Given the description of an element on the screen output the (x, y) to click on. 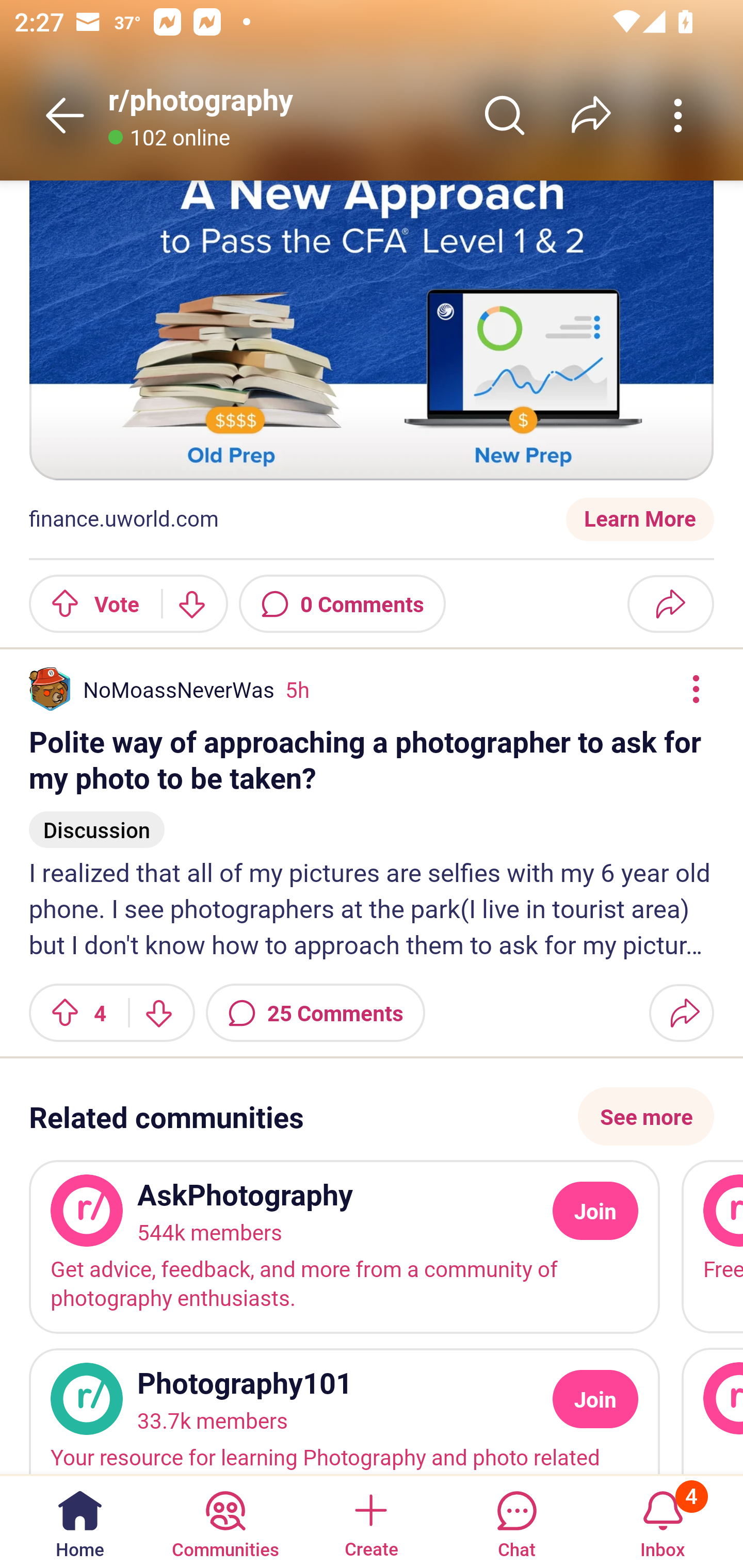
Back (64, 115)
Search r/﻿photography (504, 115)
Share r/﻿photography (591, 115)
More community actions (677, 115)
Discussion (96, 820)
Related communities See more (371, 1117)
See more (646, 1117)
Join (595, 1211)
Join (595, 1399)
Home (80, 1520)
Communities (225, 1520)
Create a post Create (370, 1520)
Chat (516, 1520)
Inbox, has 4 notifications 4 Inbox (662, 1520)
